Given the description of an element on the screen output the (x, y) to click on. 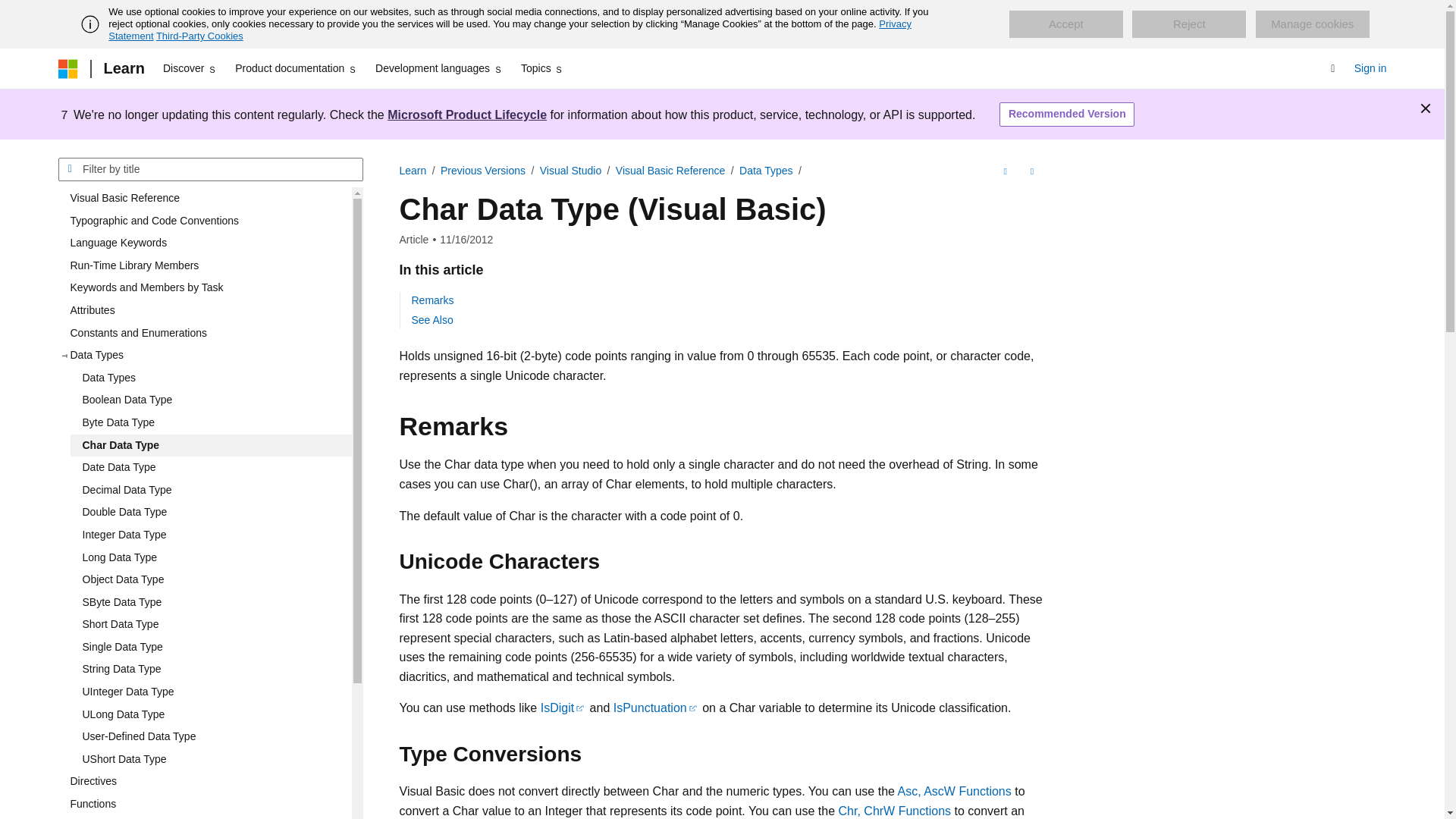
Data Types (209, 377)
Reject (1189, 23)
Constants and Enumerations (204, 333)
Sign in (1370, 68)
Microsoft Product Lifecycle (467, 114)
Byte Data Type (209, 422)
Attributes (204, 310)
Topics (542, 68)
More actions (1031, 170)
Manage cookies (1312, 23)
Development languages (438, 68)
Dismiss alert (1425, 108)
Recommended Version (1066, 114)
Discover (189, 68)
Accept (1065, 23)
